Given the description of an element on the screen output the (x, y) to click on. 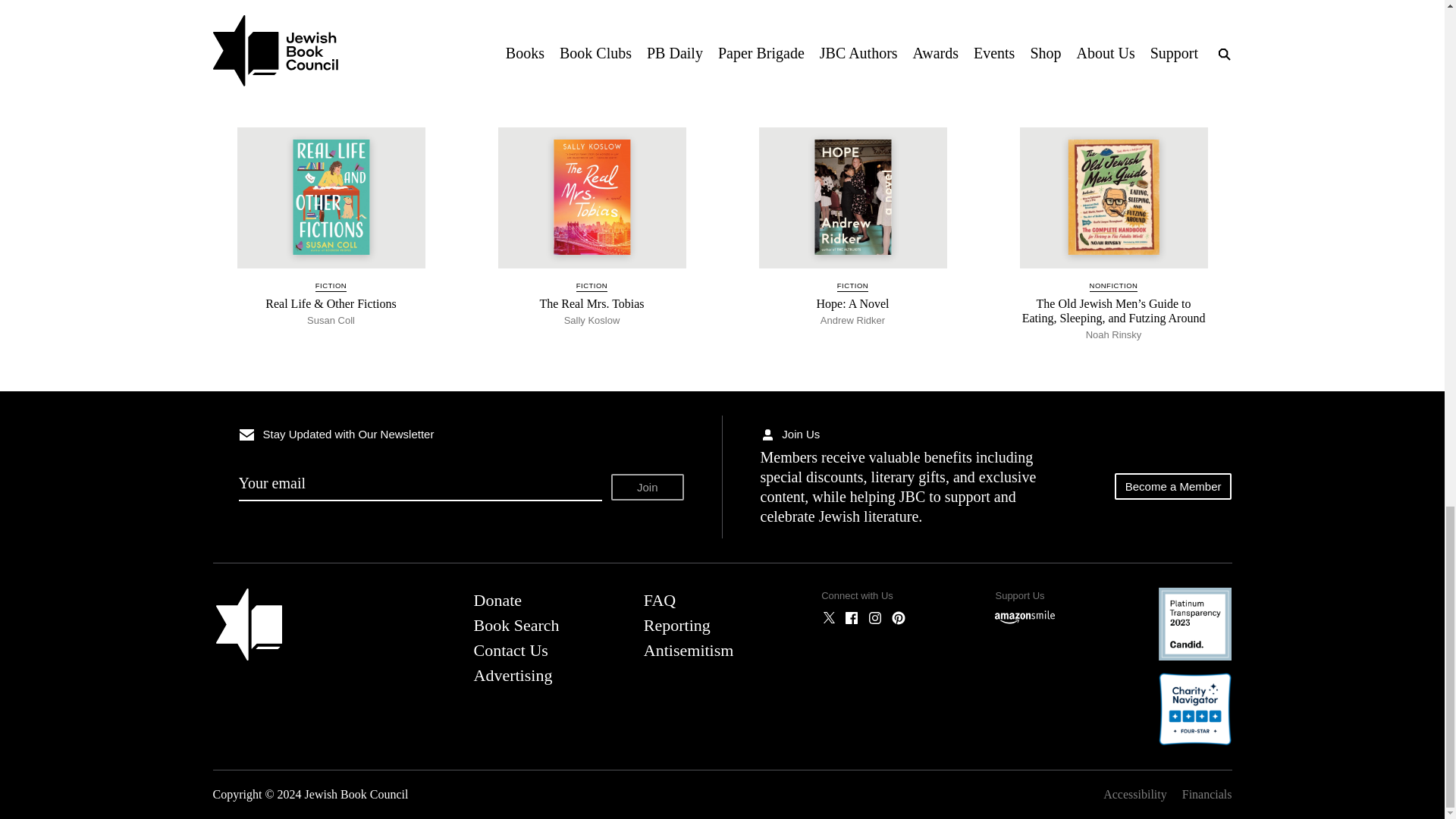
Join (647, 487)
